Given the description of an element on the screen output the (x, y) to click on. 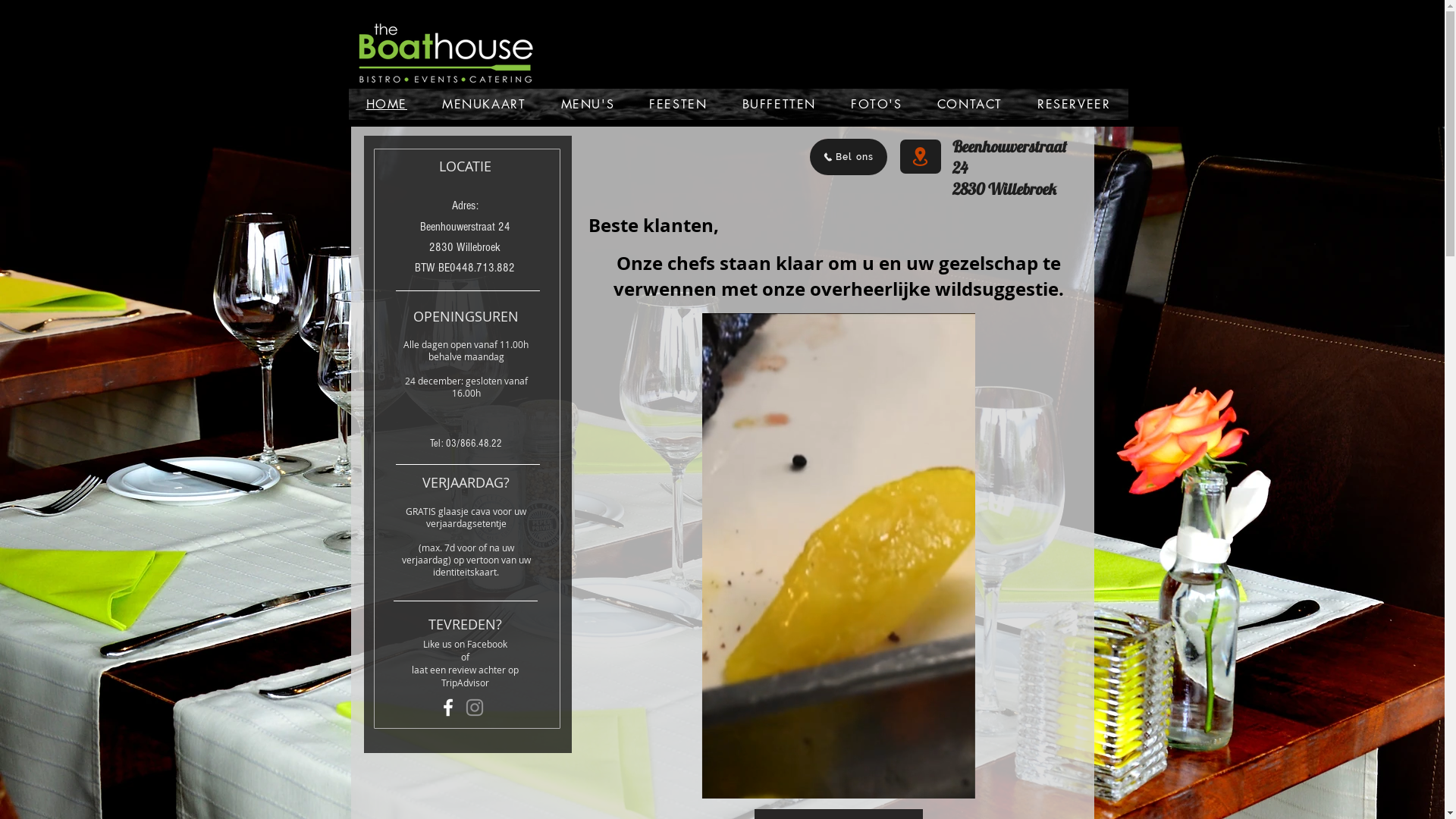
Boathouse Element type: hover (445, 52)
FEESTEN Element type: text (677, 103)
CONTACT Element type: text (969, 103)
RESERVEER Element type: text (1073, 103)
Bel ons Element type: text (848, 156)
MENU'S Element type: text (586, 103)
MENUKAART Element type: text (483, 103)
HOME Element type: text (386, 103)
FOTO'S Element type: text (876, 103)
BUFFETTEN Element type: text (779, 103)
